Given the description of an element on the screen output the (x, y) to click on. 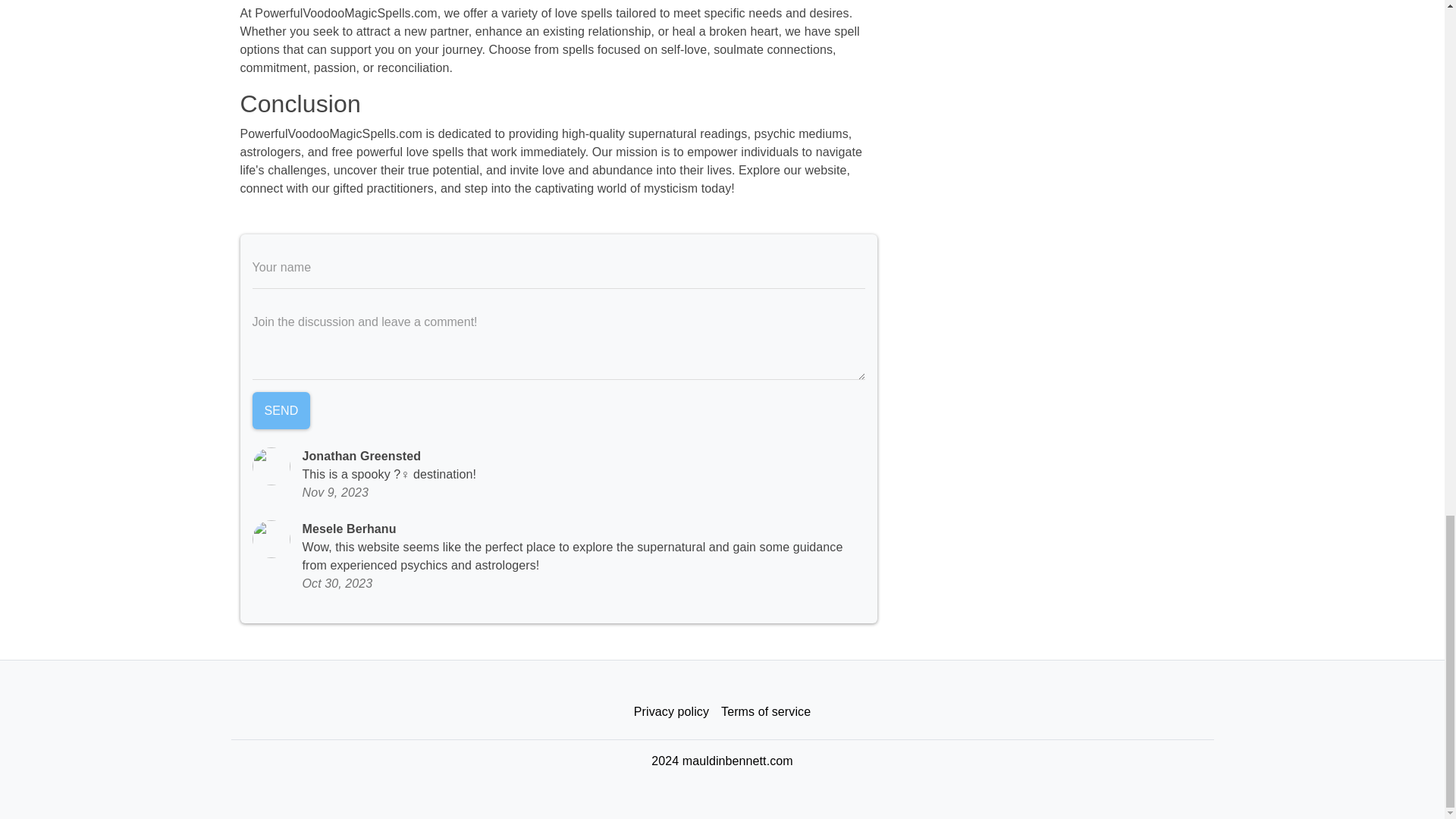
Send (280, 410)
Privacy policy (670, 711)
Send (280, 410)
Terms of service (765, 711)
